Given the description of an element on the screen output the (x, y) to click on. 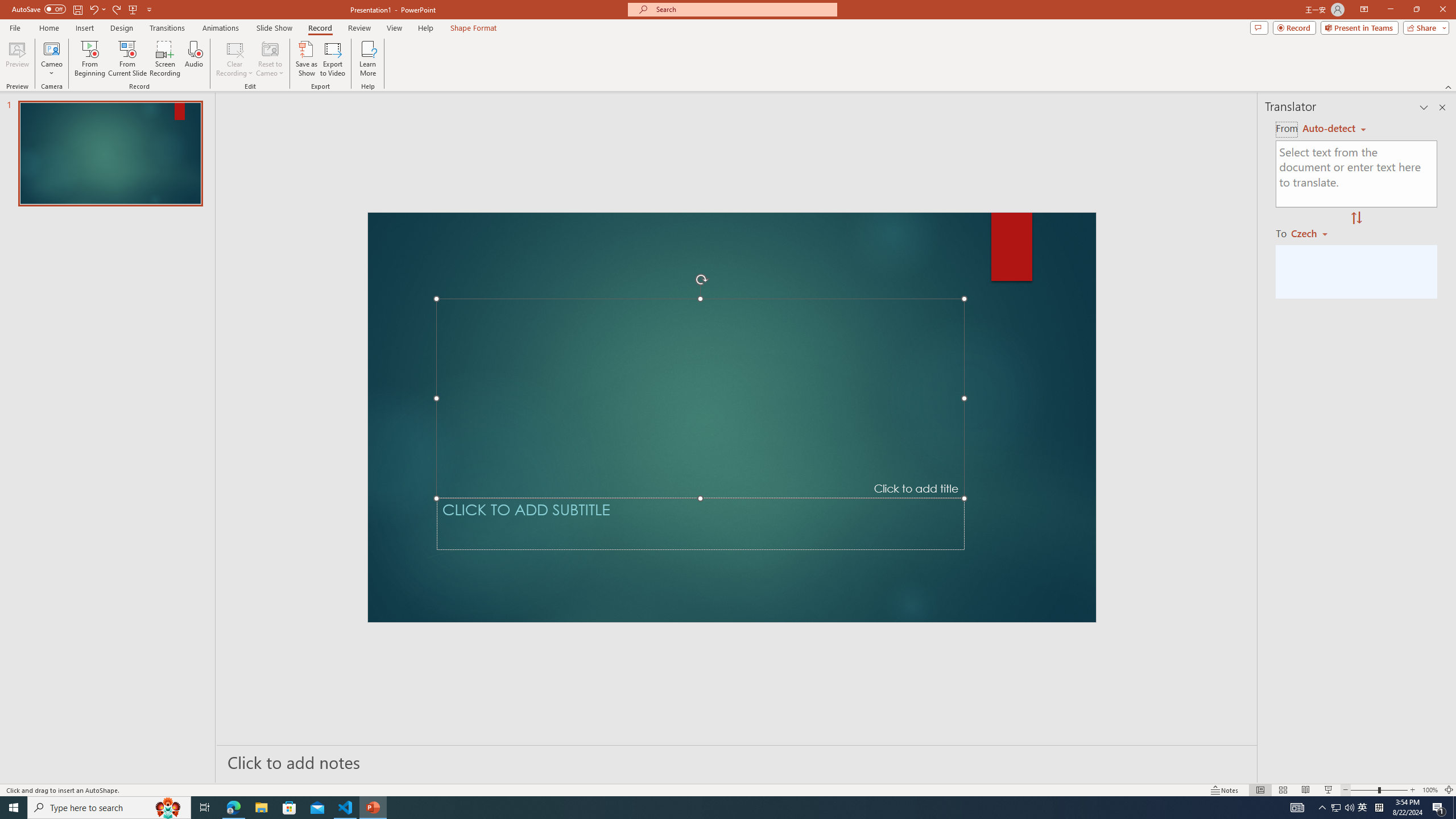
Minimize (1390, 9)
Save (77, 9)
Zoom Out (1364, 790)
Share (1423, 27)
Slide (110, 153)
View (395, 28)
Reset to Cameo (269, 58)
Redo (117, 9)
From Current Slide... (127, 58)
Customize Quick Access Toolbar (149, 9)
File Tab (15, 27)
